Given the description of an element on the screen output the (x, y) to click on. 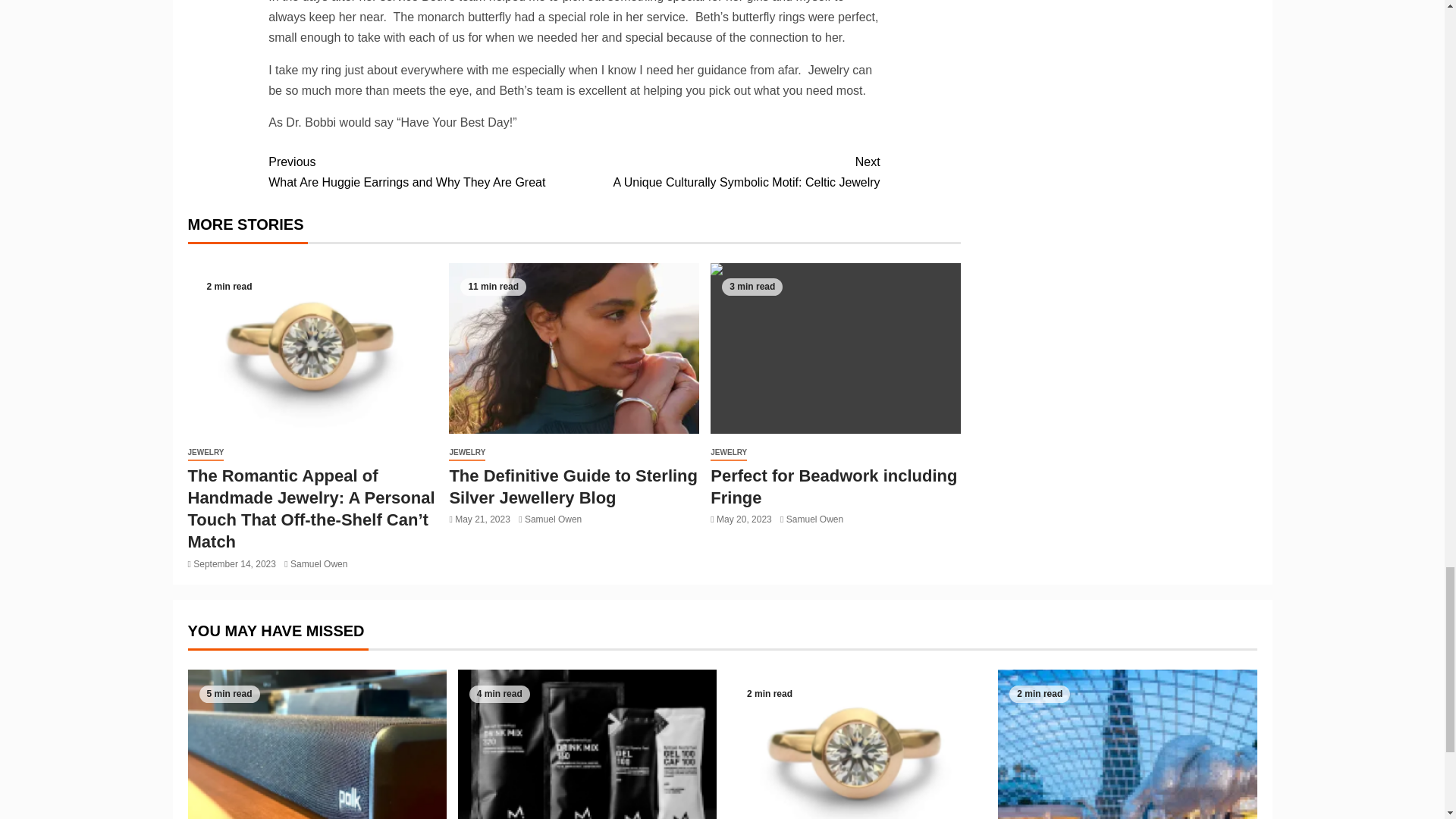
JEWELRY (205, 453)
The Definitive Guide to Sterling Silver Jewellery Blog (572, 486)
Samuel Owen (318, 563)
Samuel Owen (552, 519)
JEWELRY (466, 453)
The Definitive Guide to Sterling Silver Jewellery Blog (573, 348)
JEWELRY (420, 171)
Perfect for Beadwork including Fringe (728, 453)
